Given the description of an element on the screen output the (x, y) to click on. 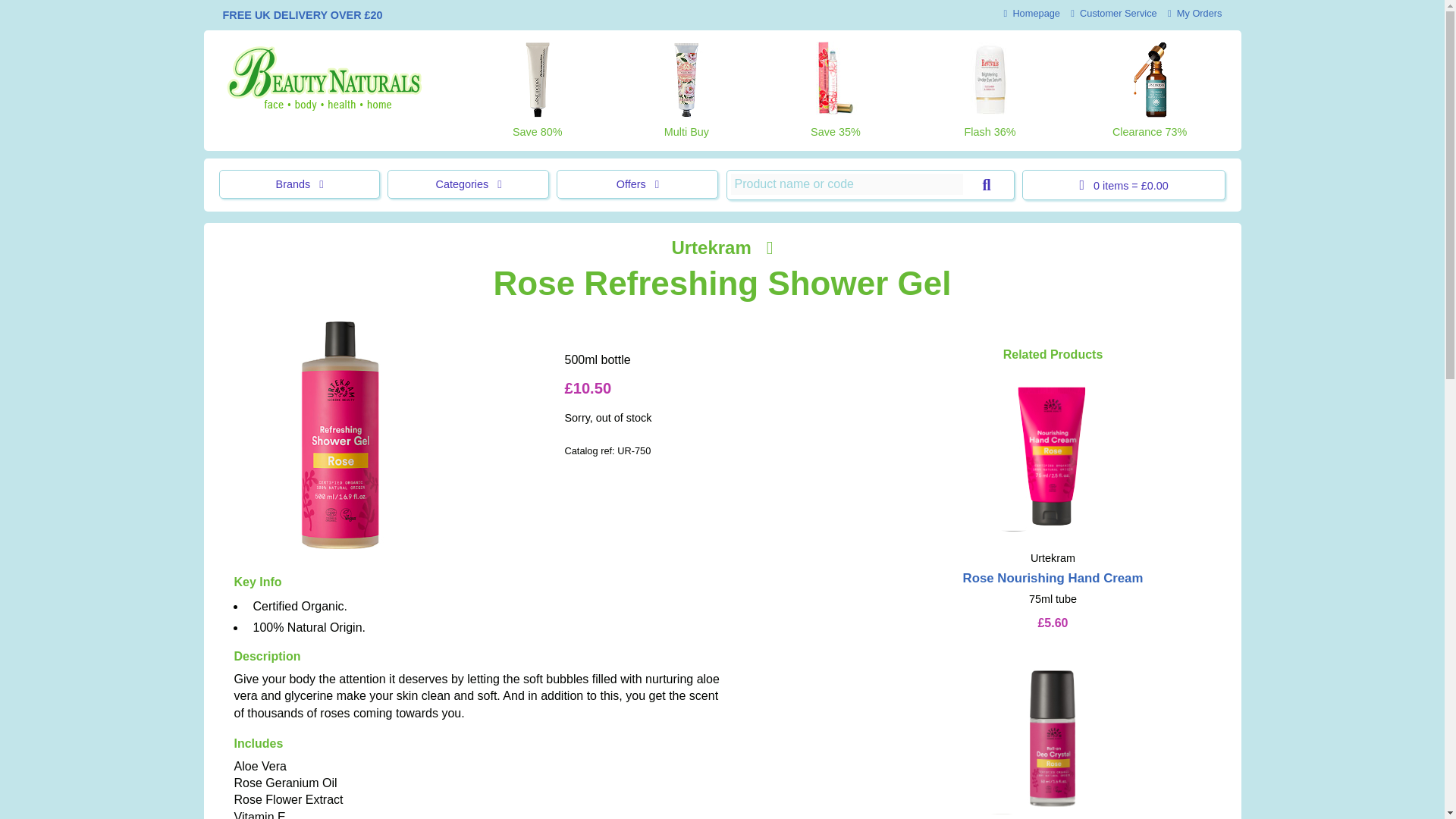
Multi Buy (686, 90)
  Homepage (1031, 12)
Categories    (467, 184)
Offers    (636, 184)
Search (985, 184)
Urtekram Rose Refreshing Shower Gel (338, 434)
Brands    (299, 184)
